Given the description of an element on the screen output the (x, y) to click on. 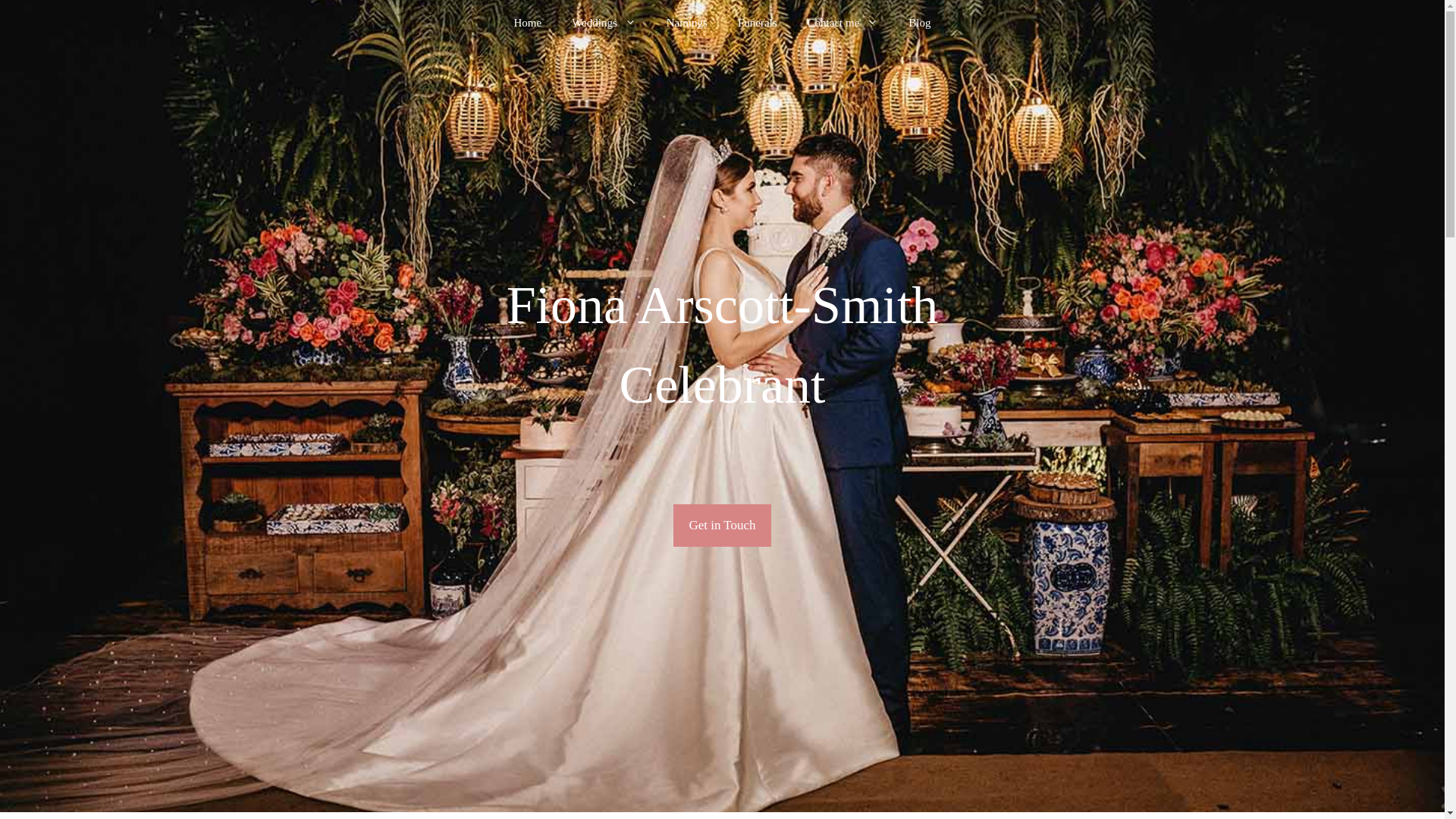
Home (526, 22)
Contact me (842, 22)
Funerals (757, 22)
Naming Ceremony (686, 22)
Celebrant in Bedfordshire (526, 22)
Weddings (603, 22)
Namings (686, 22)
Wedding Celebrant (603, 22)
Funeral Celebrant (757, 22)
Blog (918, 22)
